Given the description of an element on the screen output the (x, y) to click on. 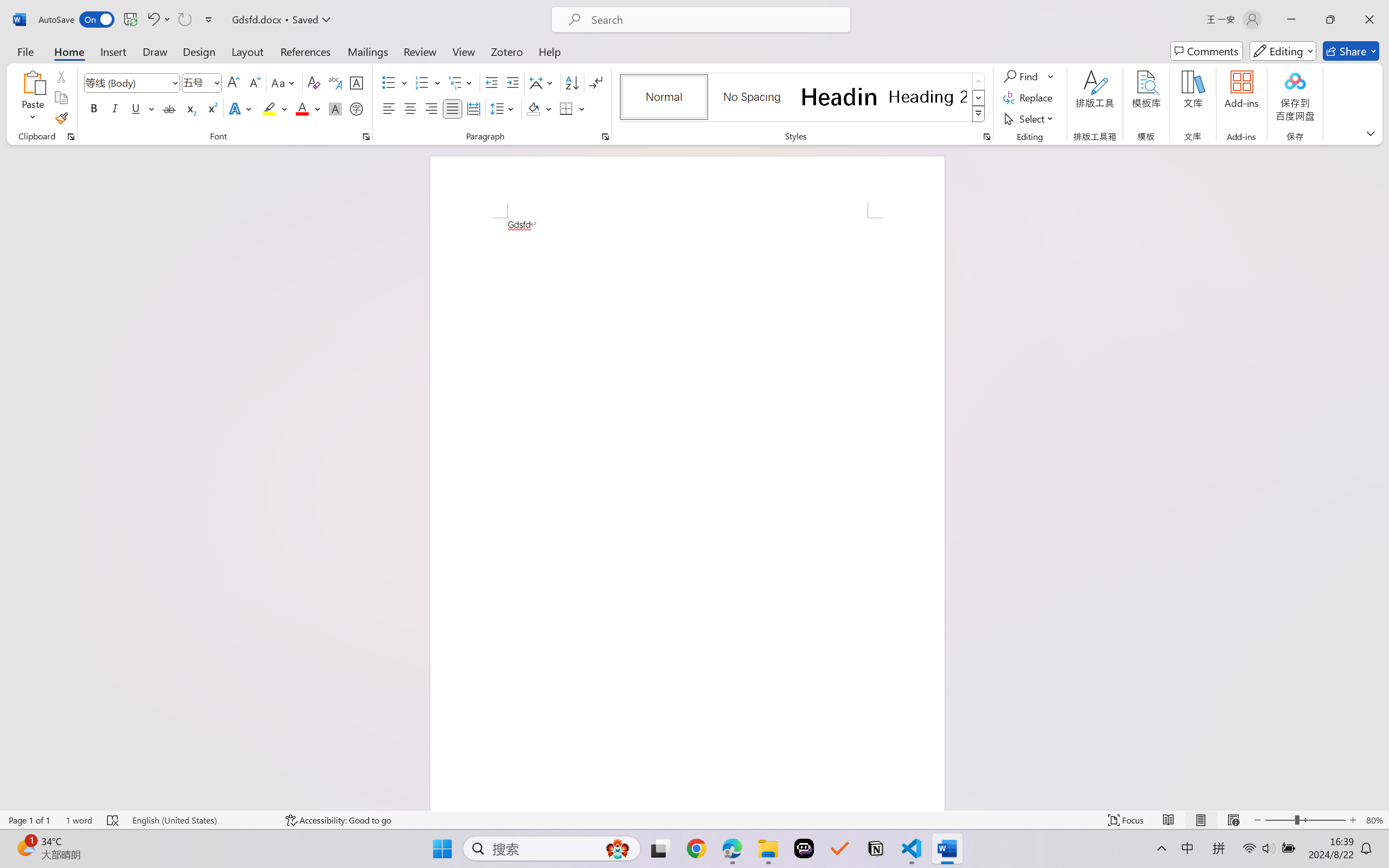
Undo Apply Quick Style (158, 19)
